Given the description of an element on the screen output the (x, y) to click on. 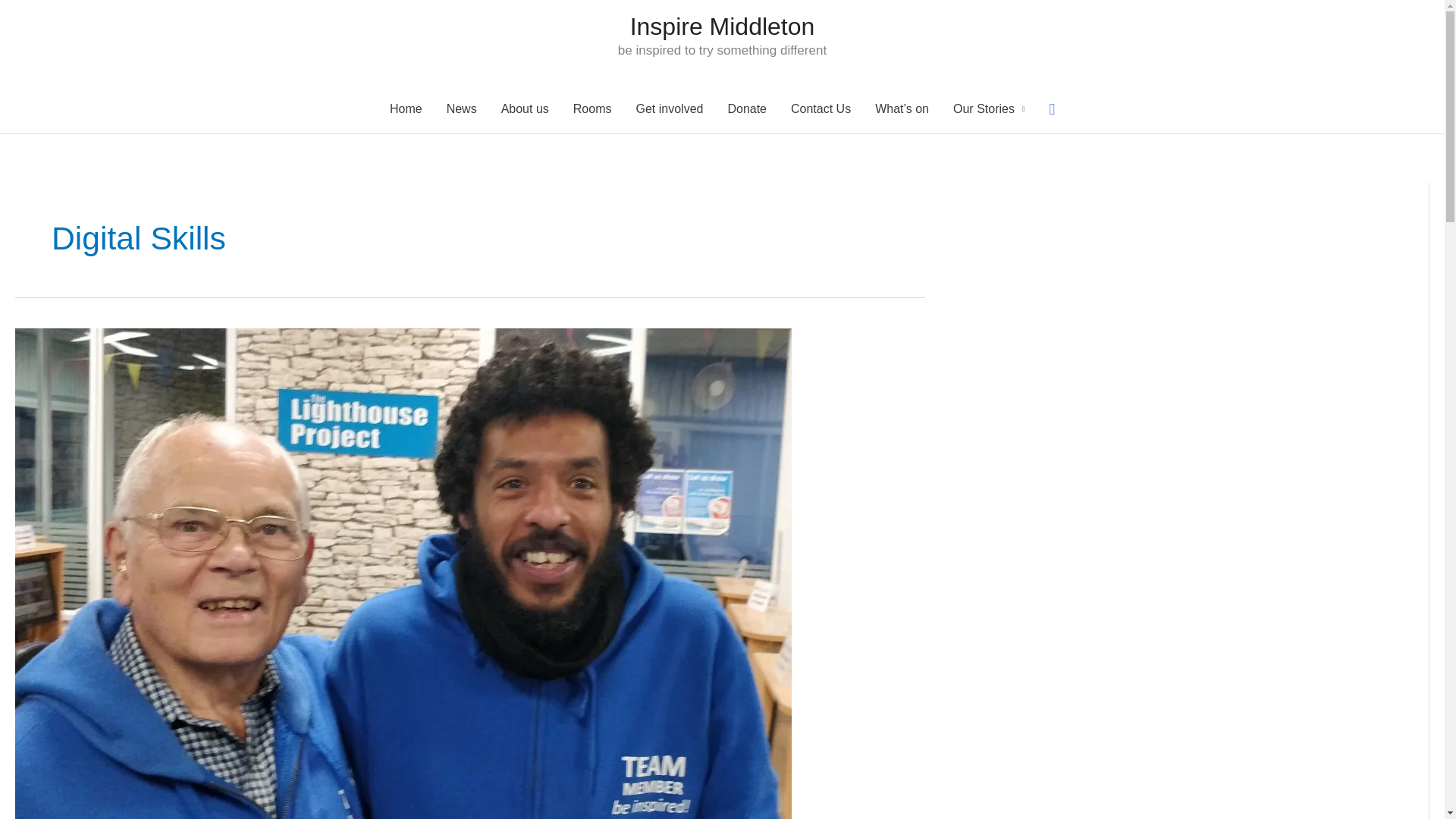
Get involved (668, 109)
Donate (746, 109)
Rooms (592, 109)
About us (524, 109)
Contact Us (820, 109)
Home (405, 109)
News (461, 109)
Inspire Middleton (722, 26)
Our Stories (988, 109)
